Given the description of an element on the screen output the (x, y) to click on. 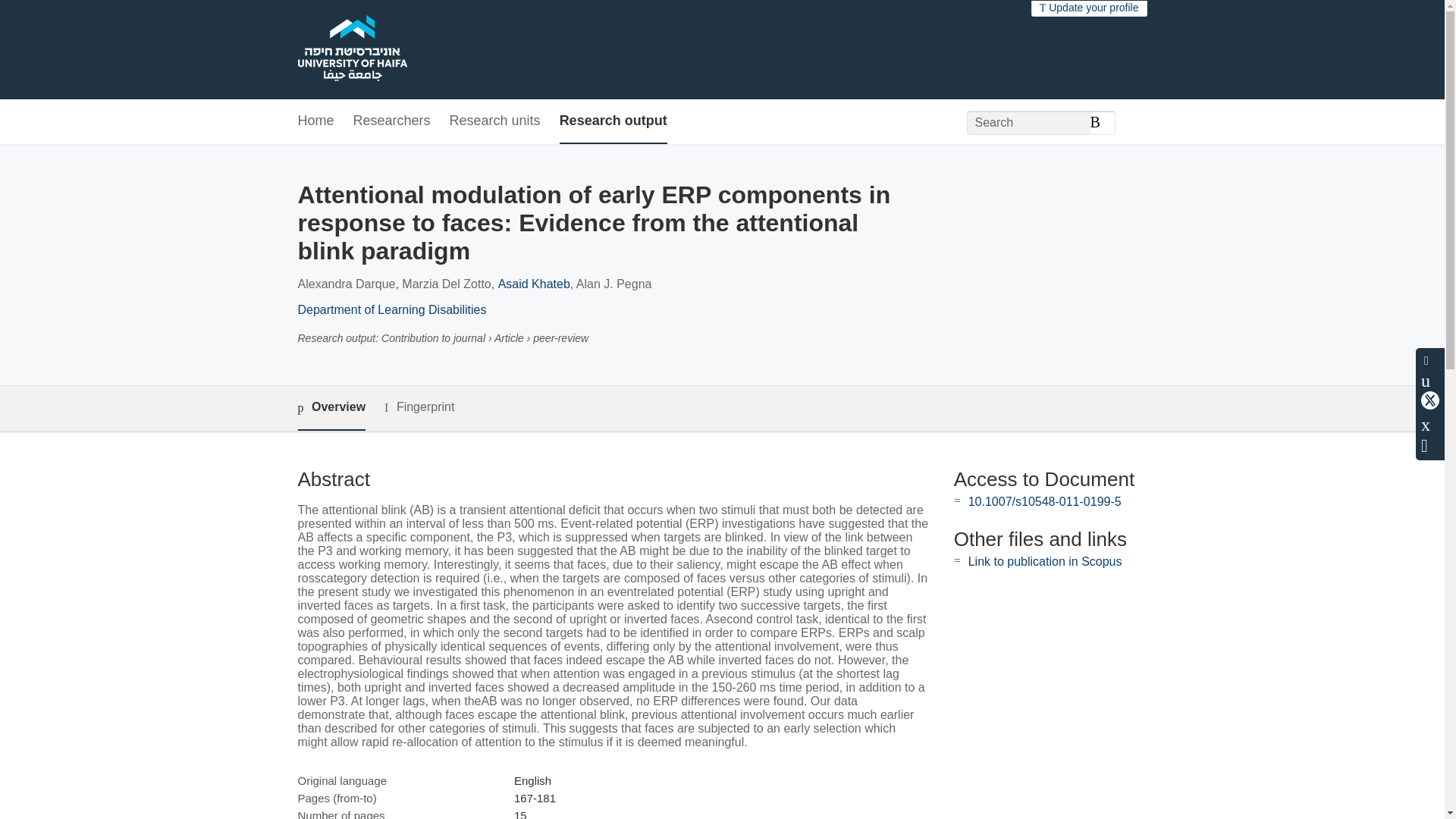
Overview (331, 407)
Research output (612, 121)
Link to publication in Scopus (1045, 561)
Asaid Khateb (533, 283)
Home (315, 121)
Department of Learning Disabilities (391, 309)
Researchers (391, 121)
Fingerprint (419, 407)
Research units (494, 121)
University of Haifa Home (351, 49)
Update your profile (1089, 7)
